Given the description of an element on the screen output the (x, y) to click on. 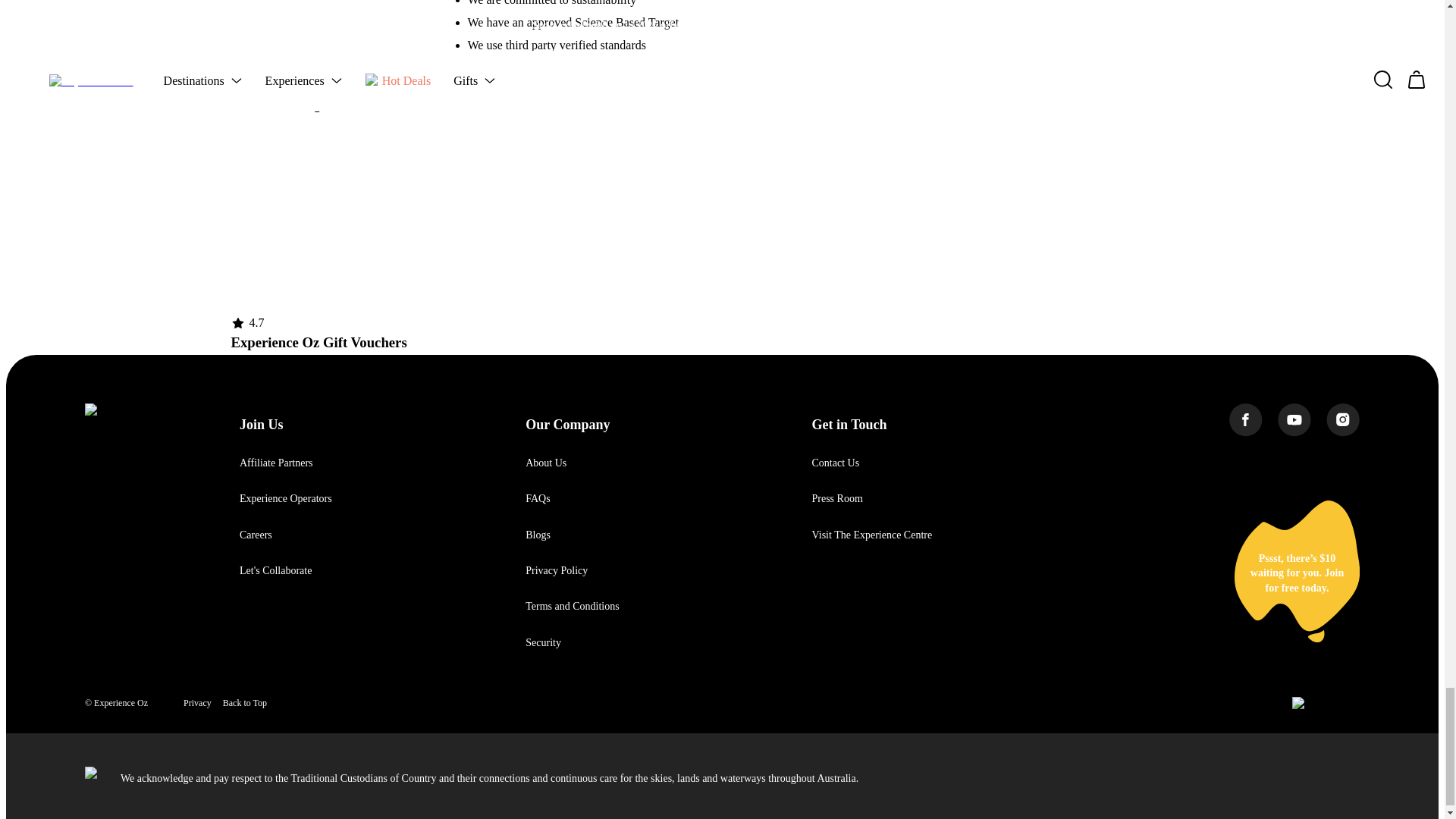
Privacy Policy (556, 570)
Blogs (537, 534)
Careers (256, 534)
FAQs (537, 498)
About Us (545, 462)
Experience Operators (285, 498)
Let's Collaborate (275, 570)
Affiliate Partners (276, 462)
